Given the description of an element on the screen output the (x, y) to click on. 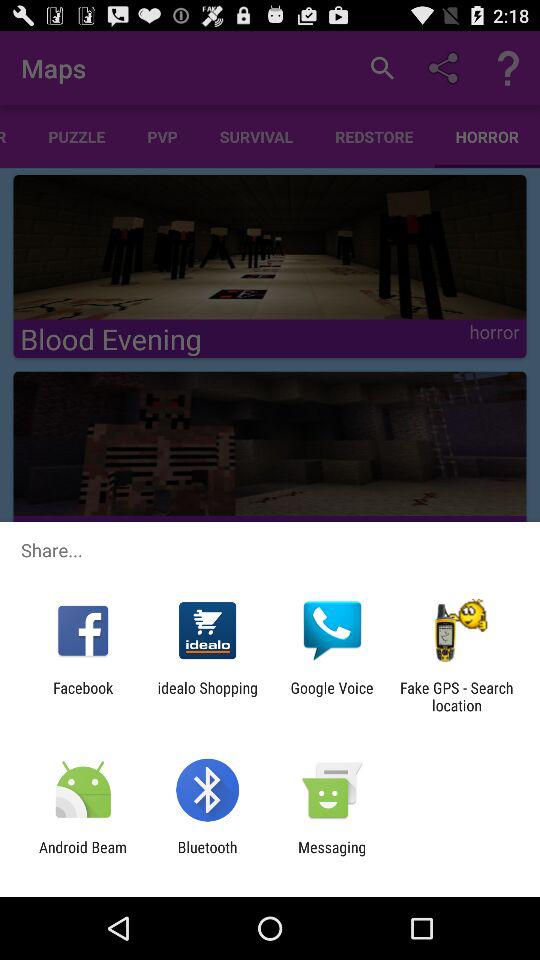
click app next to the messaging (207, 856)
